Given the description of an element on the screen output the (x, y) to click on. 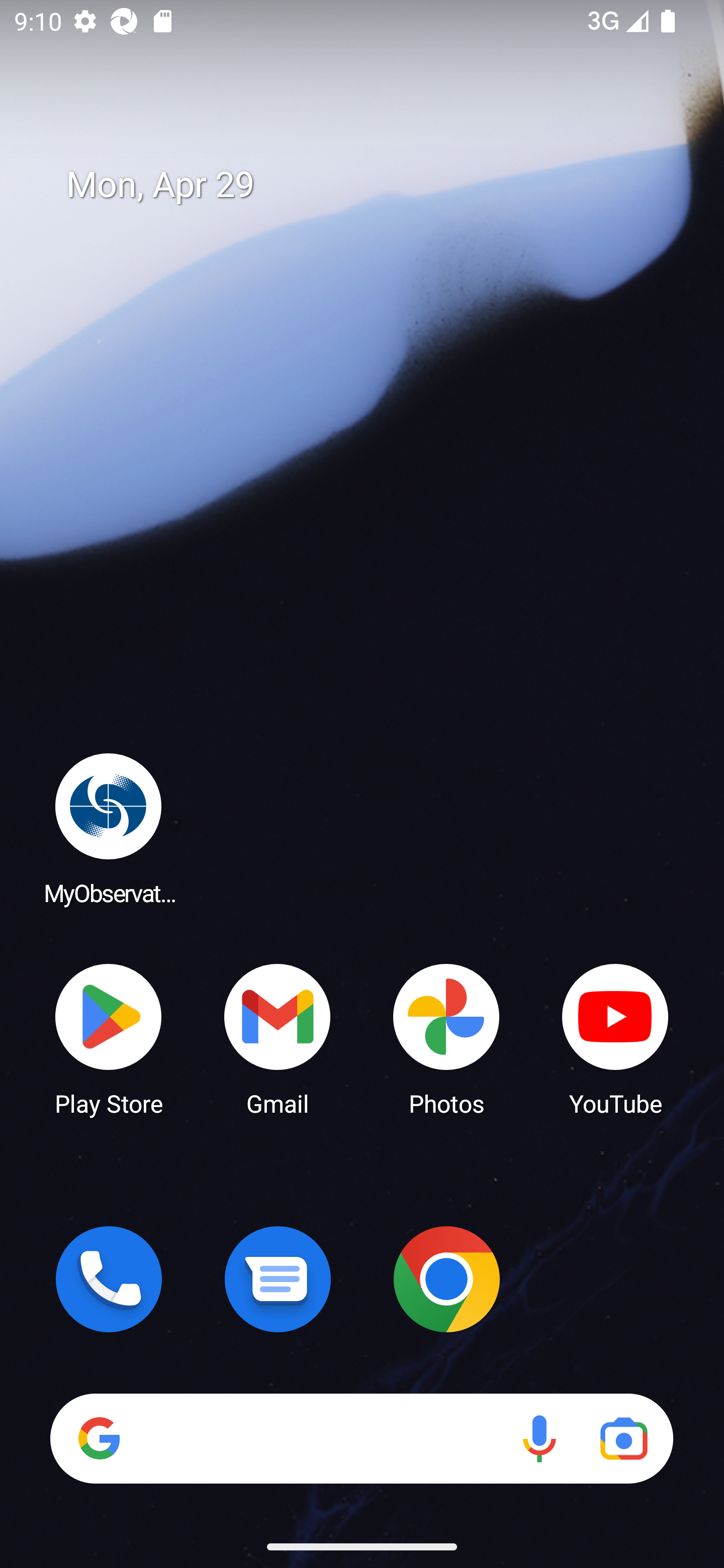
Mon, Apr 29 (375, 184)
MyObservatory (108, 828)
Play Store (108, 1038)
Gmail (277, 1038)
Photos (445, 1038)
YouTube (615, 1038)
Phone (108, 1279)
Messages (277, 1279)
Chrome (446, 1279)
Voice search (539, 1438)
Google Lens (623, 1438)
